Given the description of an element on the screen output the (x, y) to click on. 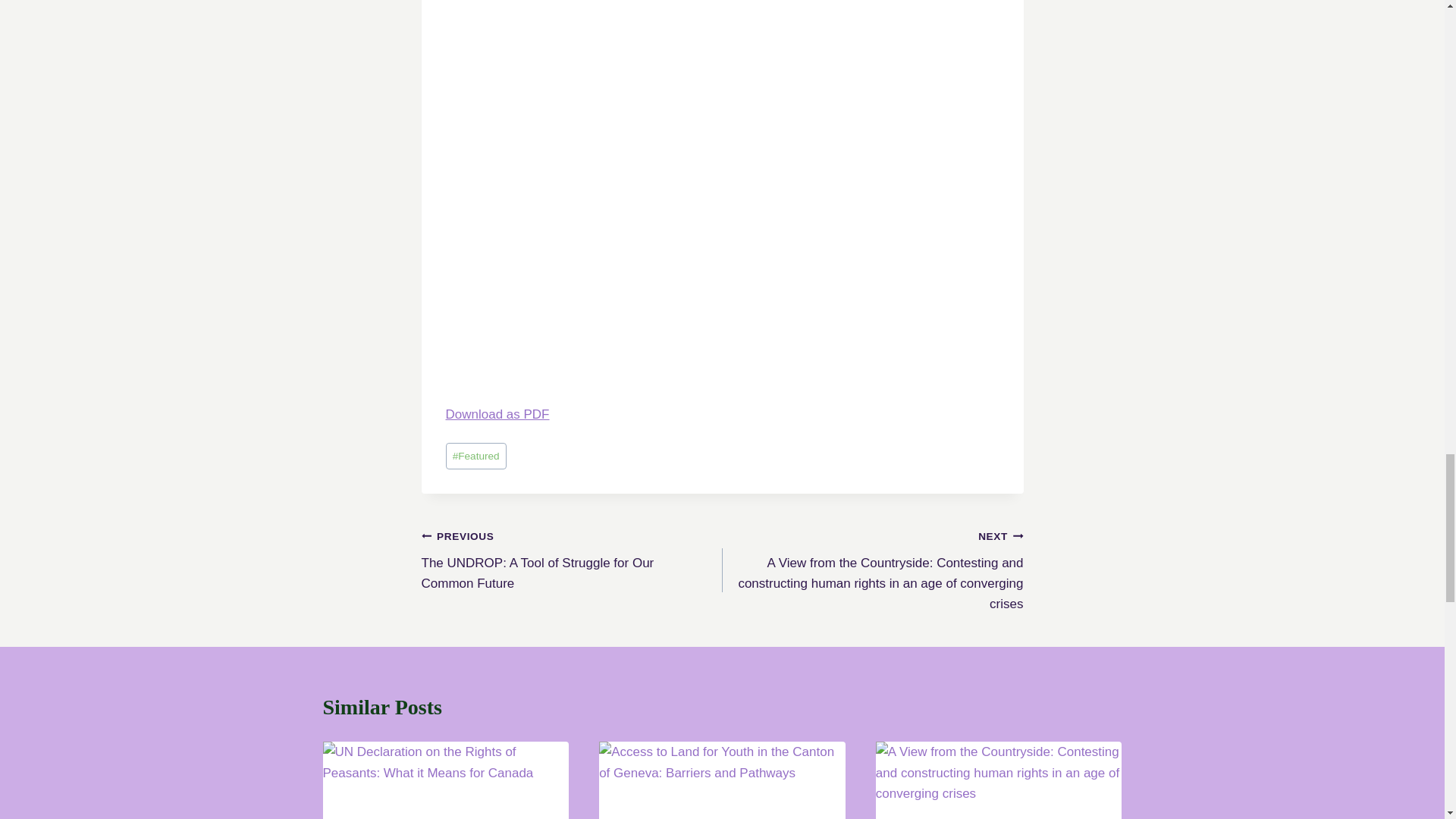
Featured (475, 456)
Download as PDF (497, 414)
